Given the description of an element on the screen output the (x, y) to click on. 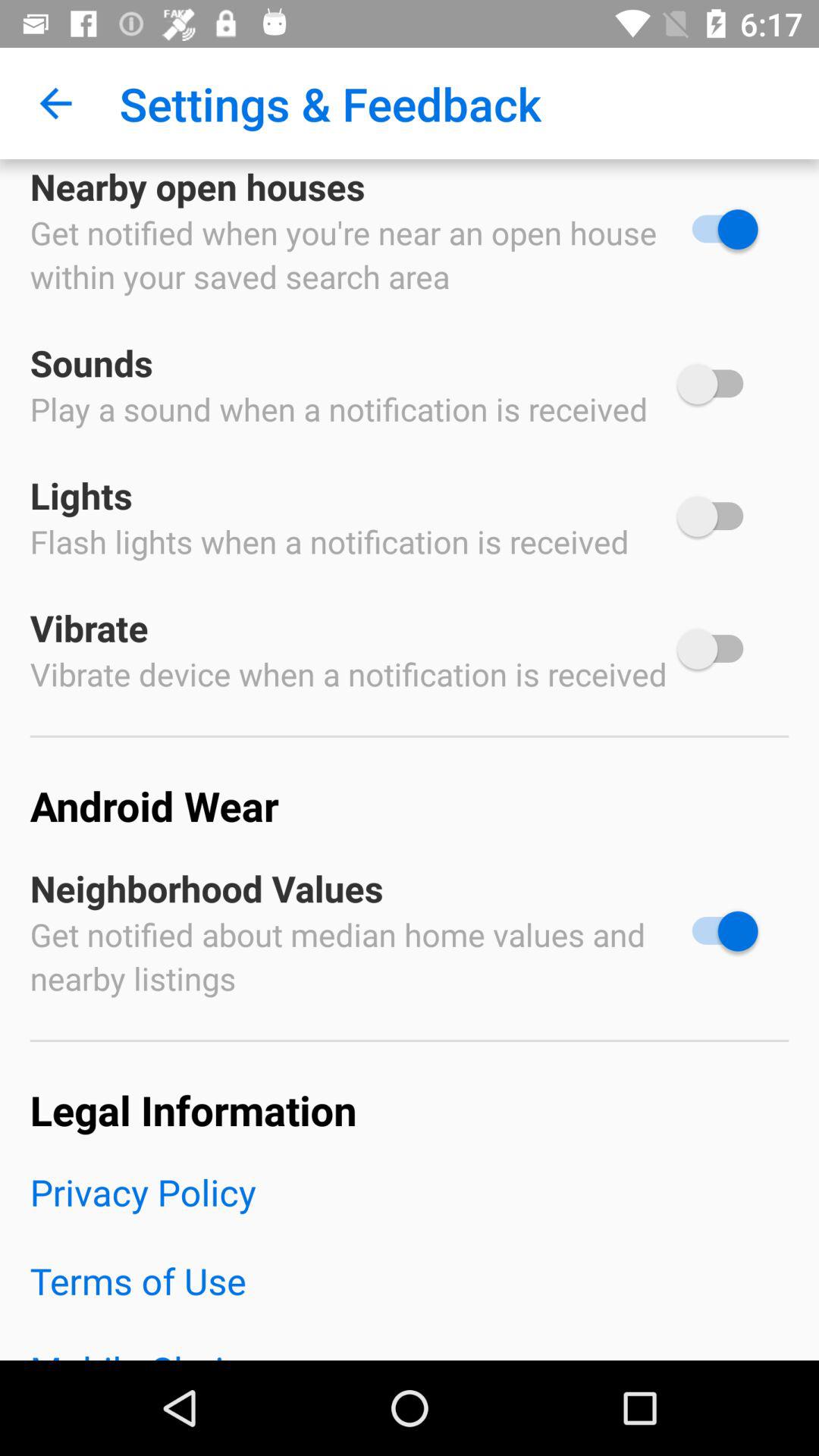
turn off search (717, 229)
